Given the description of an element on the screen output the (x, y) to click on. 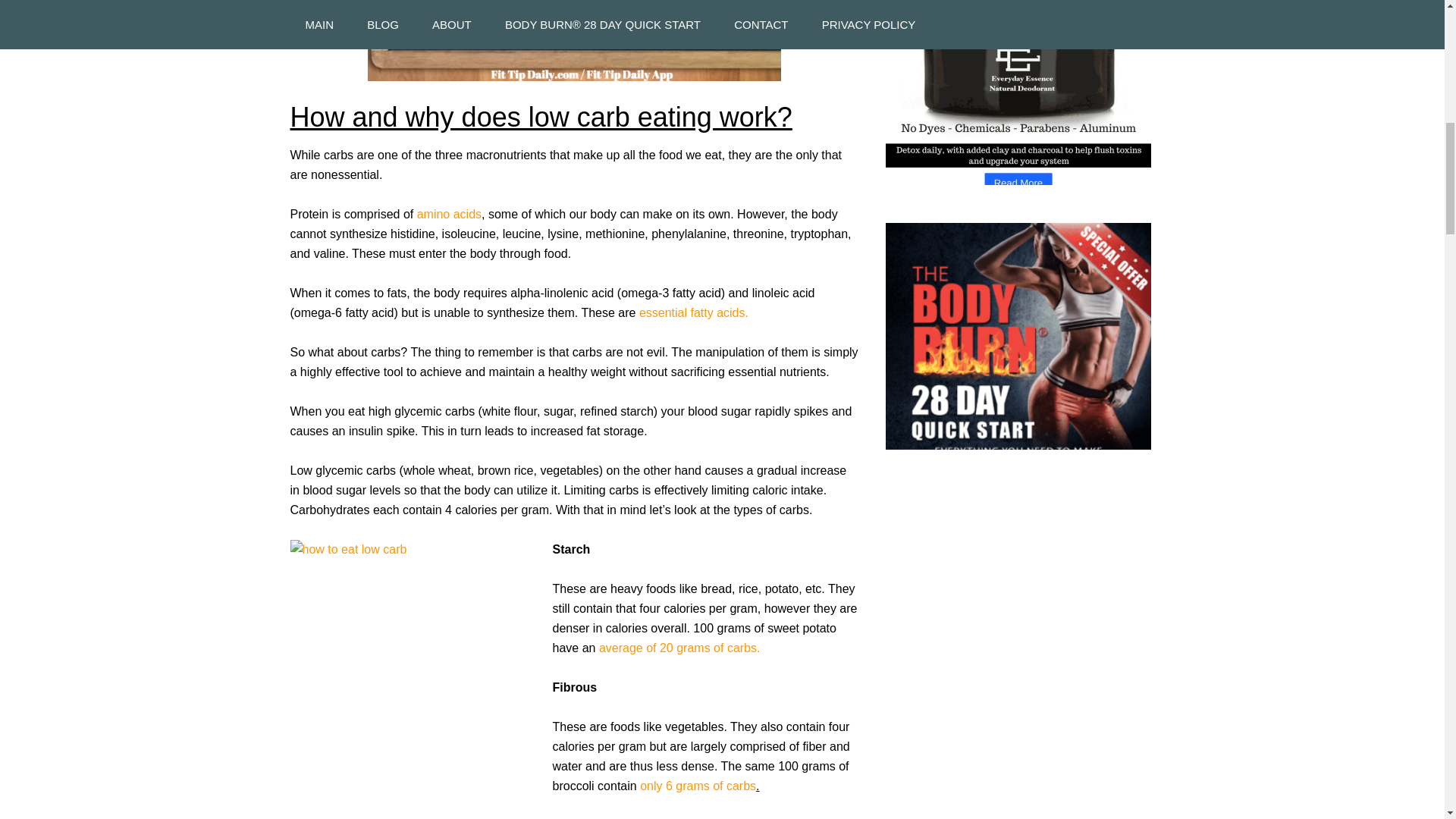
amino acids (448, 214)
essential fatty acids. (693, 312)
average of 20 grams of (660, 647)
grams of carbs (715, 785)
carbs. (743, 647)
only 6 (656, 785)
